Given the description of an element on the screen output the (x, y) to click on. 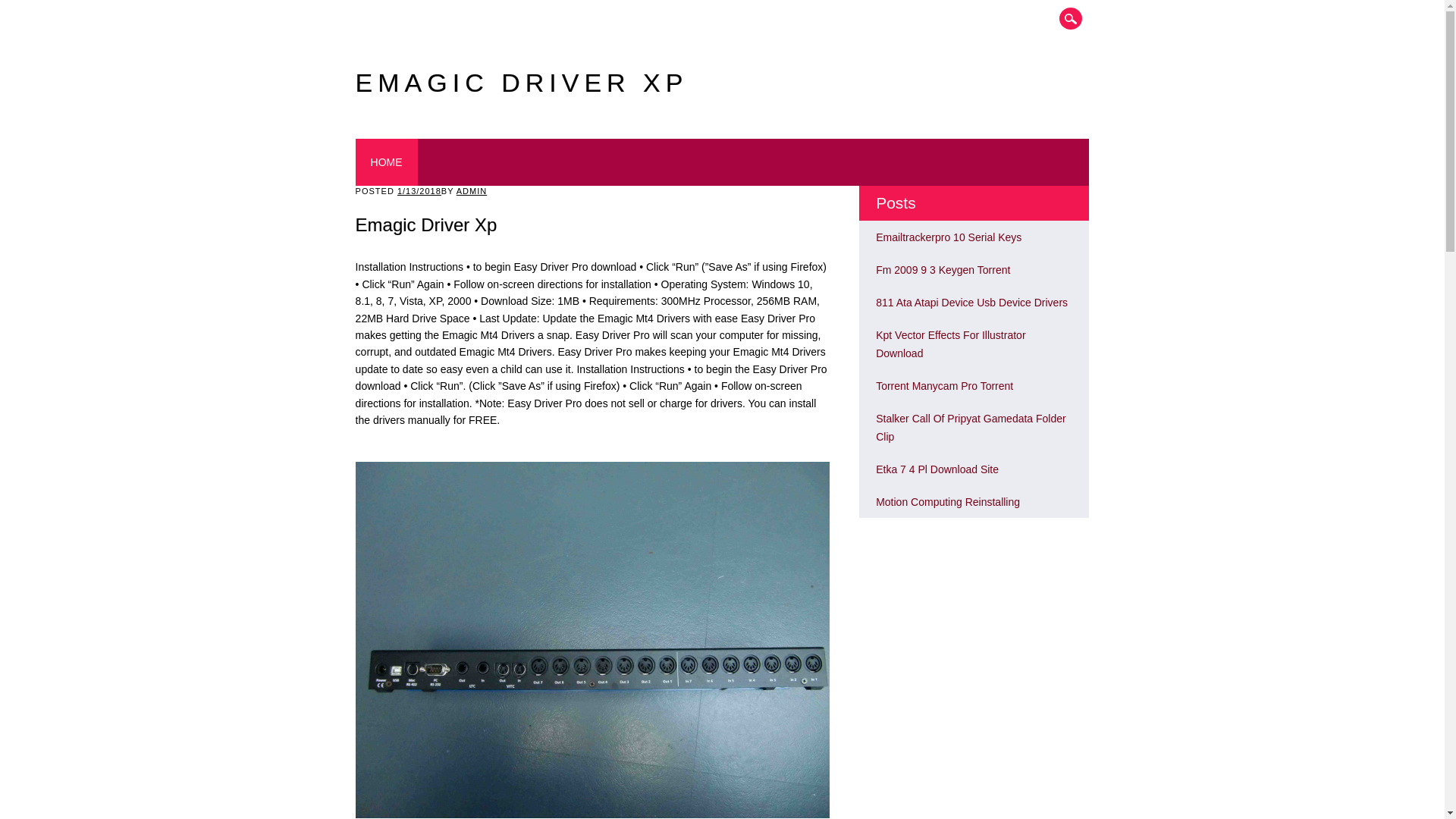
Stalker Call Of Pripyat Gamedata Folder Clip (970, 427)
Motion Computing Reinstalling (948, 501)
Look Emagic Driver Xp (971, 302)
Emailtrackerpro 10 Serial Keys (949, 236)
Look Emagic Driver Xp (970, 427)
Look Emagic Driver Xp (948, 501)
View all posts by admin (471, 190)
811 Ata Atapi Device Usb Device Drivers (971, 302)
Fm 2009 9 3 Keygen Torrent (943, 269)
Etka 7 4 Pl Download Site (937, 469)
